Given the description of an element on the screen output the (x, y) to click on. 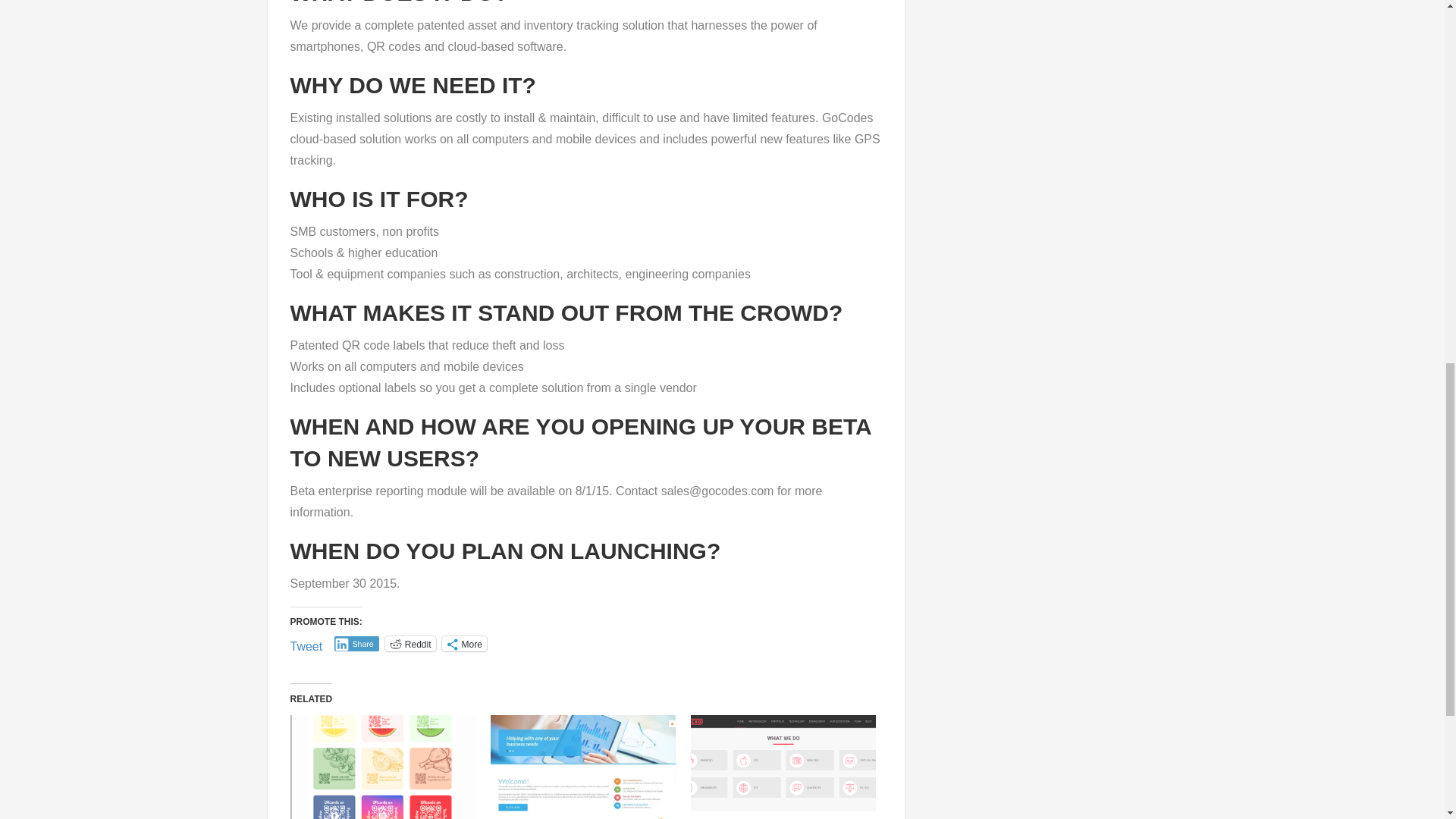
Tweet (305, 643)
More (463, 643)
Share (356, 643)
Reddit (410, 643)
Beta Pitch for Recrosoft (782, 766)
Click to share on Reddit (410, 643)
Beta Pitch for QRcards (381, 766)
